Given the description of an element on the screen output the (x, y) to click on. 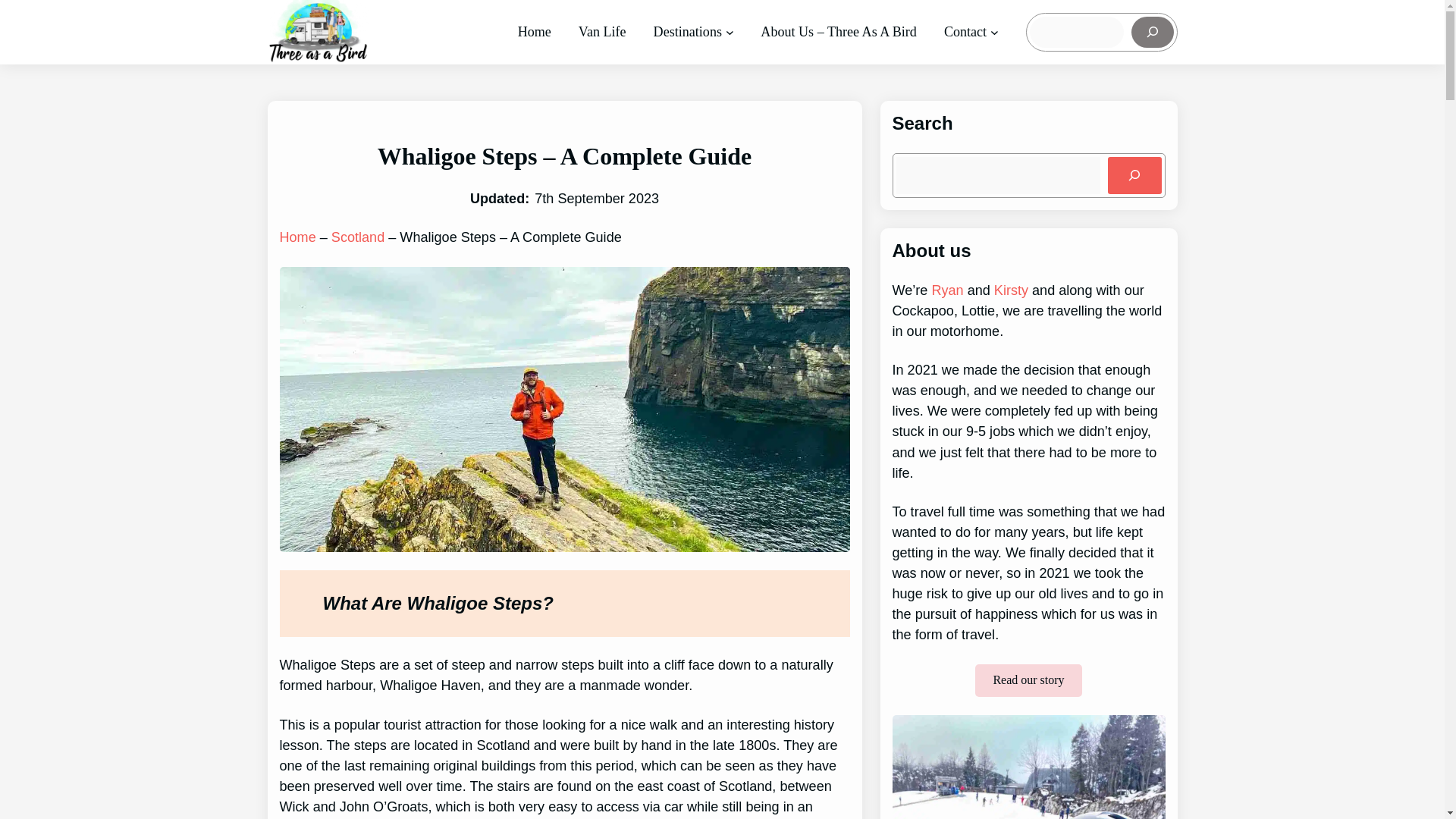
Home (297, 237)
Home (534, 32)
Contact (965, 32)
Scotland (357, 237)
Destinations (687, 32)
Van Life (602, 32)
